Given the description of an element on the screen output the (x, y) to click on. 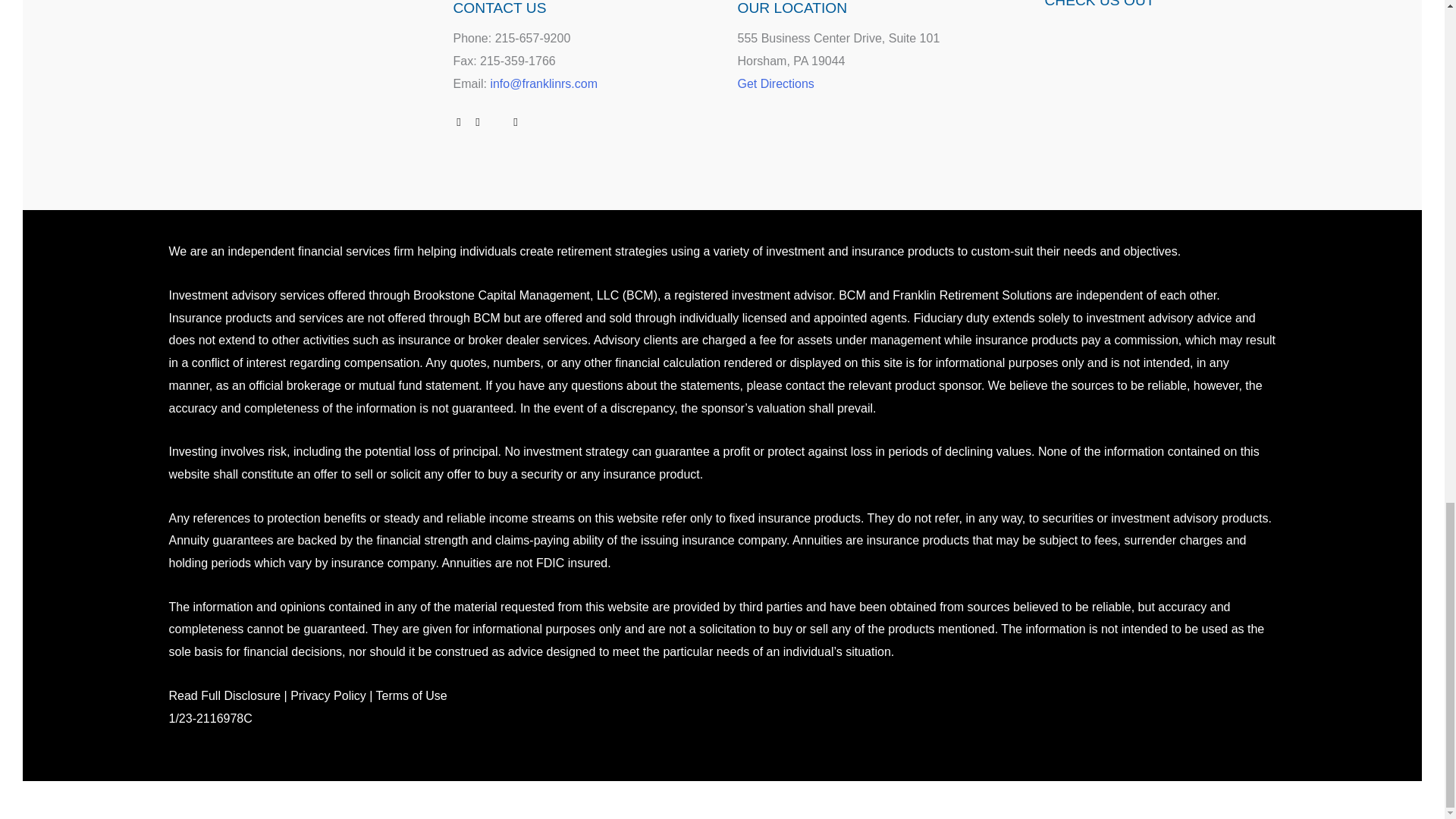
Get Directions (774, 83)
Privacy Policy (327, 695)
bluesky blk (534, 121)
Terms of Use (410, 695)
